Given the description of an element on the screen output the (x, y) to click on. 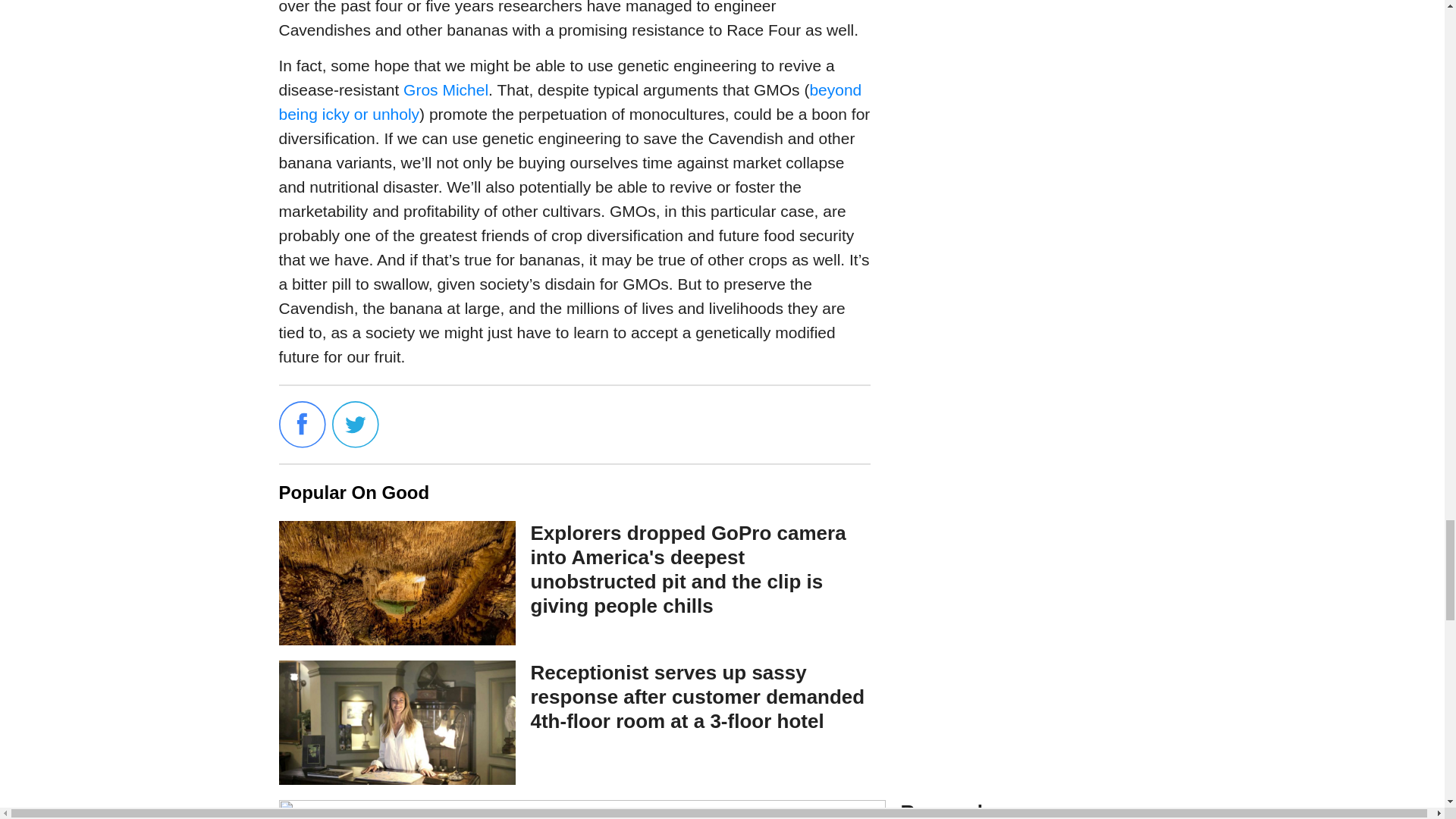
beyond being icky or unholy (570, 101)
Gros Michel (445, 89)
